Given the description of an element on the screen output the (x, y) to click on. 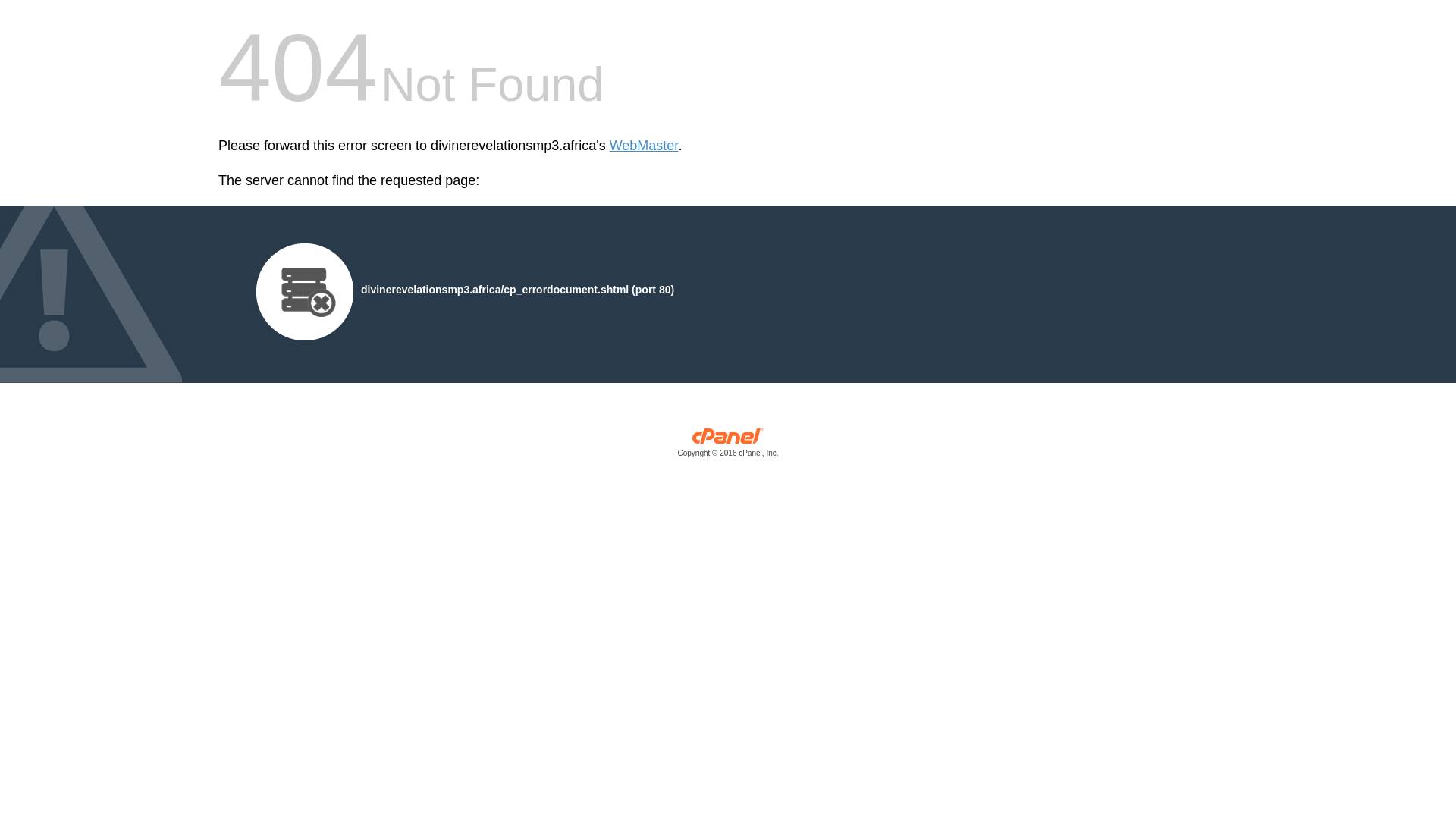
cPanel, Inc. (727, 446)
WebMaster (644, 145)
